Given the description of an element on the screen output the (x, y) to click on. 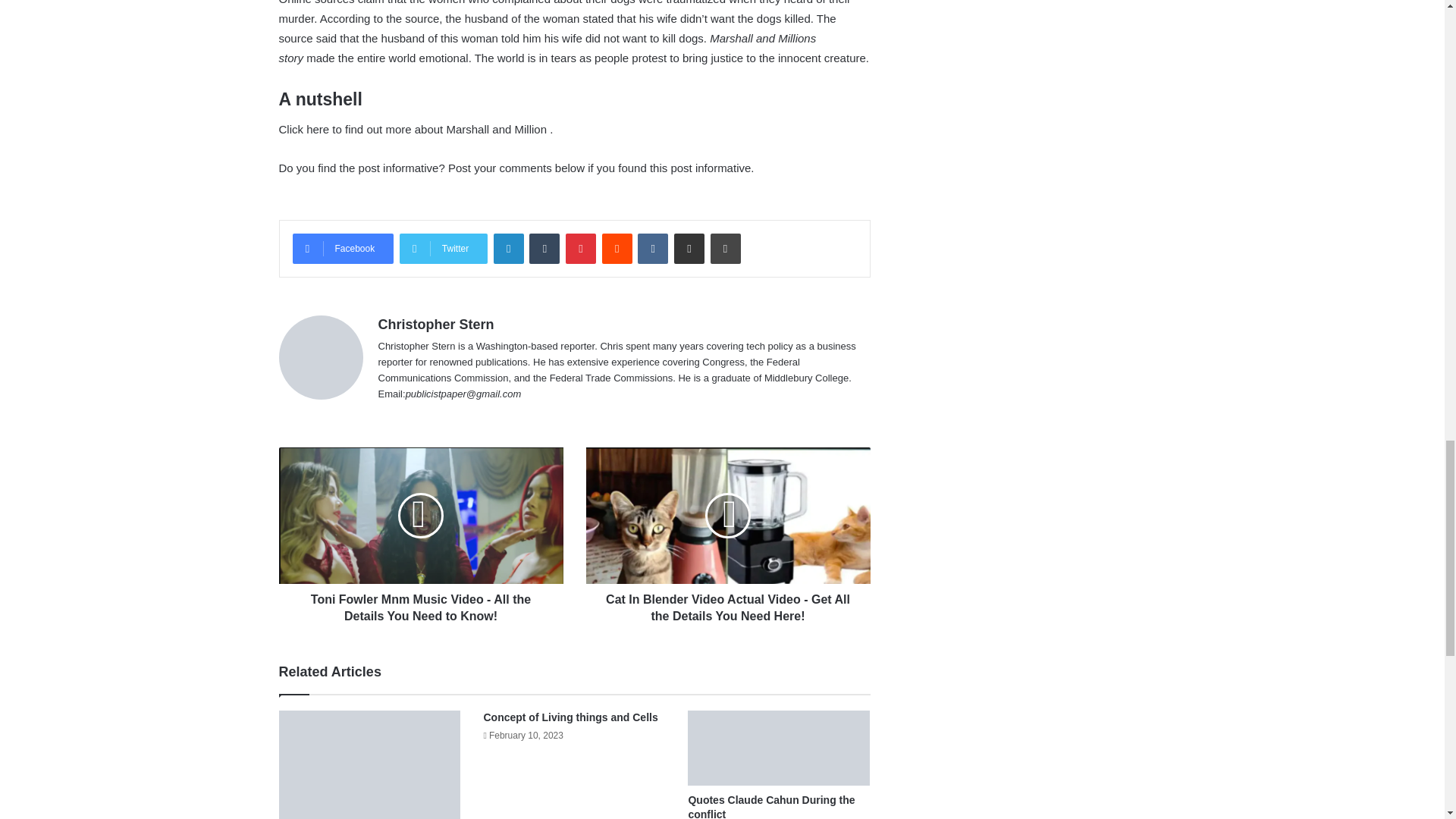
Pinterest (580, 248)
Share via Email (689, 248)
LinkedIn (508, 248)
Print (725, 248)
Pinterest (580, 248)
Share via Email (689, 248)
Facebook (343, 248)
VKontakte (652, 248)
Twitter (442, 248)
Reddit (616, 248)
